Given the description of an element on the screen output the (x, y) to click on. 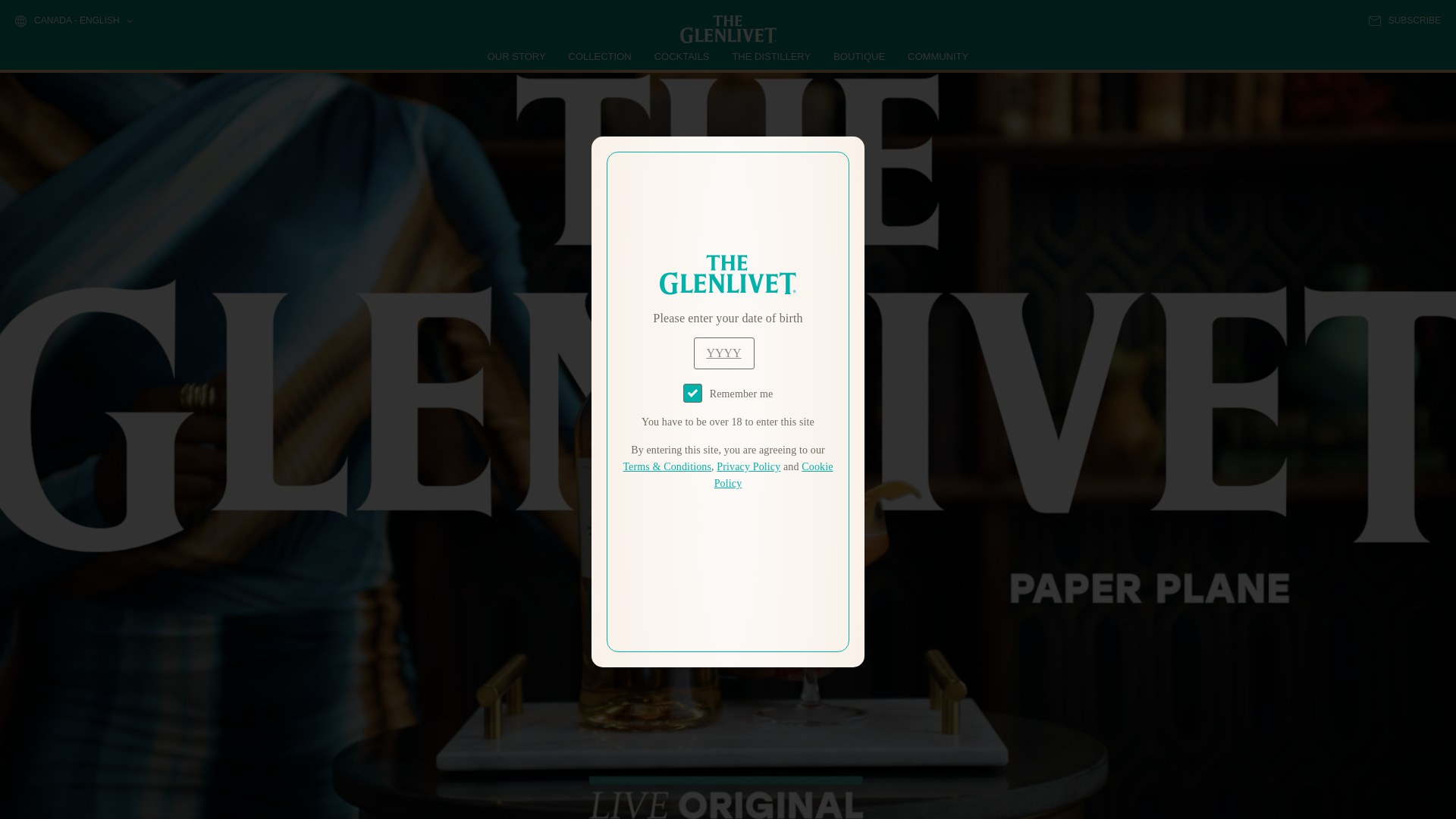
OUR STORY (516, 56)
COMMUNITY (937, 56)
SUBSCRIBE (1404, 20)
COCKTAILS (681, 56)
BOUTIQUE (858, 56)
CANADA - ENGLISH (73, 21)
COLLECTION (600, 56)
Privacy Policy (748, 466)
THE DISTILLERY (771, 56)
year (723, 353)
